Given the description of an element on the screen output the (x, y) to click on. 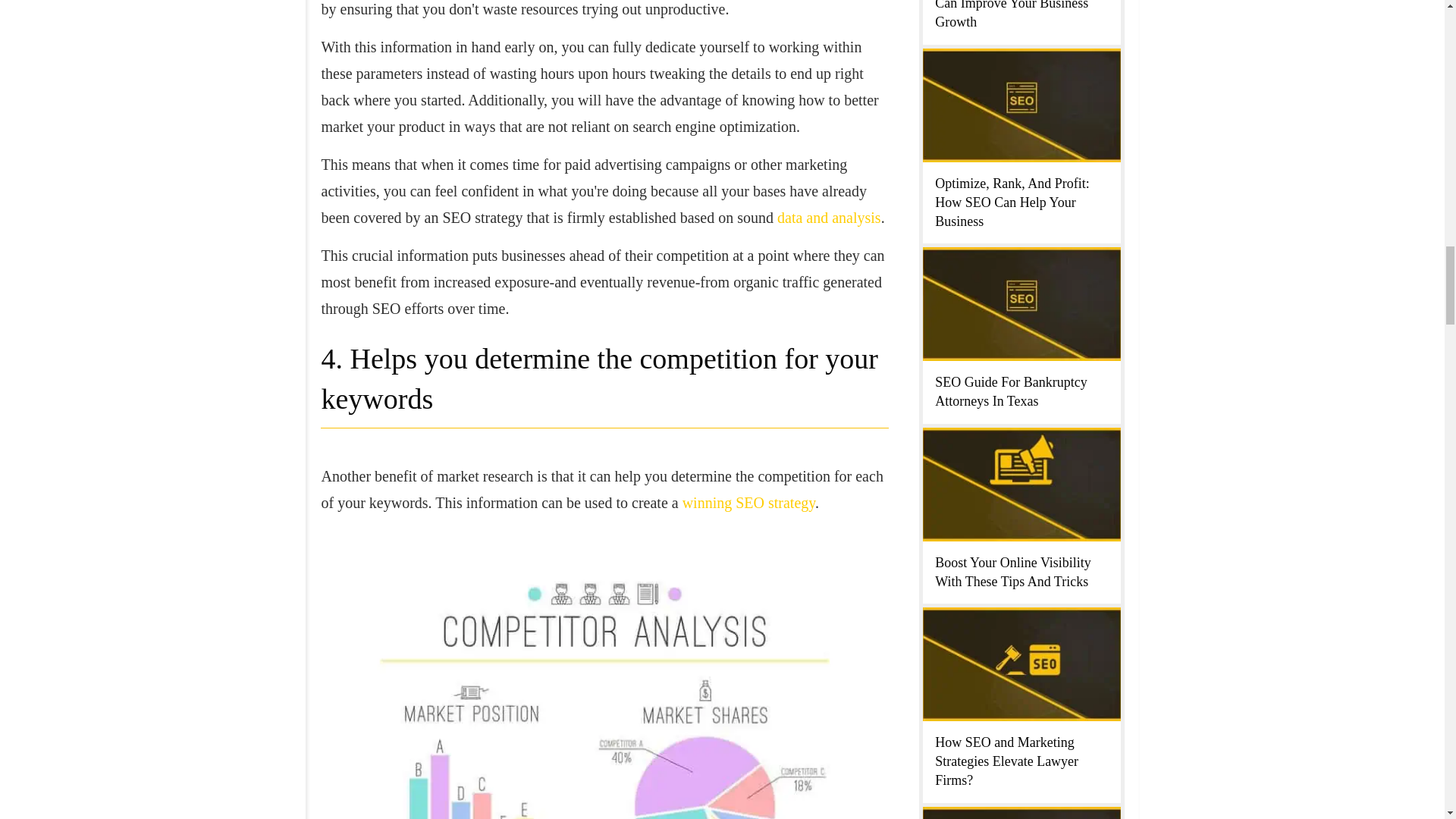
The Top Ways An SEO Agency Can Improve Your Business Growth (1020, 14)
Optimize, Rank, And Profit: How SEO Can Help Your Business (1011, 202)
SEO Guide For Bankruptcy Attorneys In Texas (1010, 391)
